Given the description of an element on the screen output the (x, y) to click on. 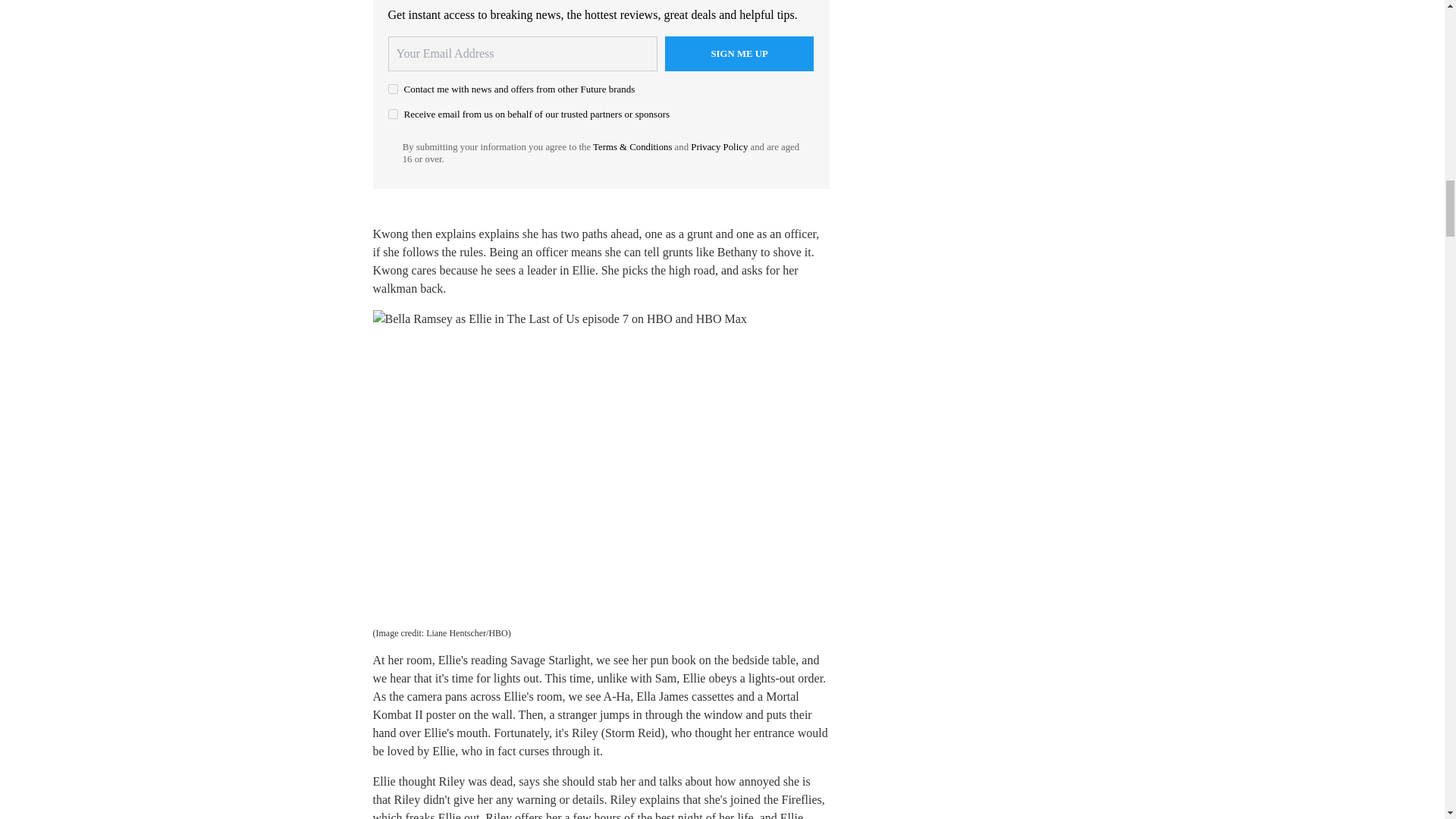
on (392, 113)
on (392, 89)
Sign me up (739, 53)
